Given the description of an element on the screen output the (x, y) to click on. 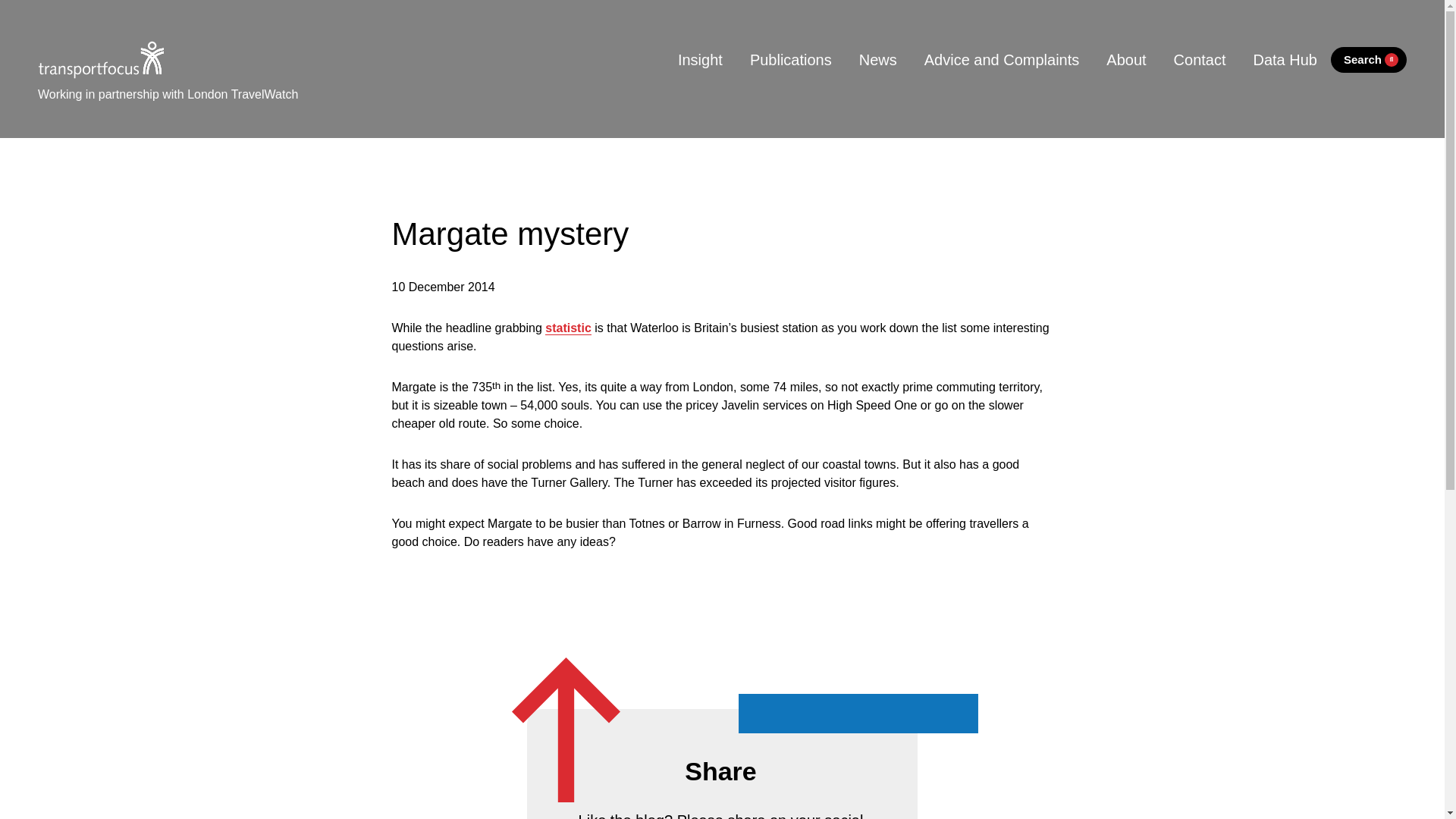
Publications (790, 59)
News (878, 59)
Advice and Complaints (1002, 59)
Insight (699, 59)
Working in partnership with London TravelWatch (167, 91)
Contact (1200, 59)
Data Hub (1284, 59)
About (1125, 59)
statistic (567, 327)
Search (1368, 59)
